Given the description of an element on the screen output the (x, y) to click on. 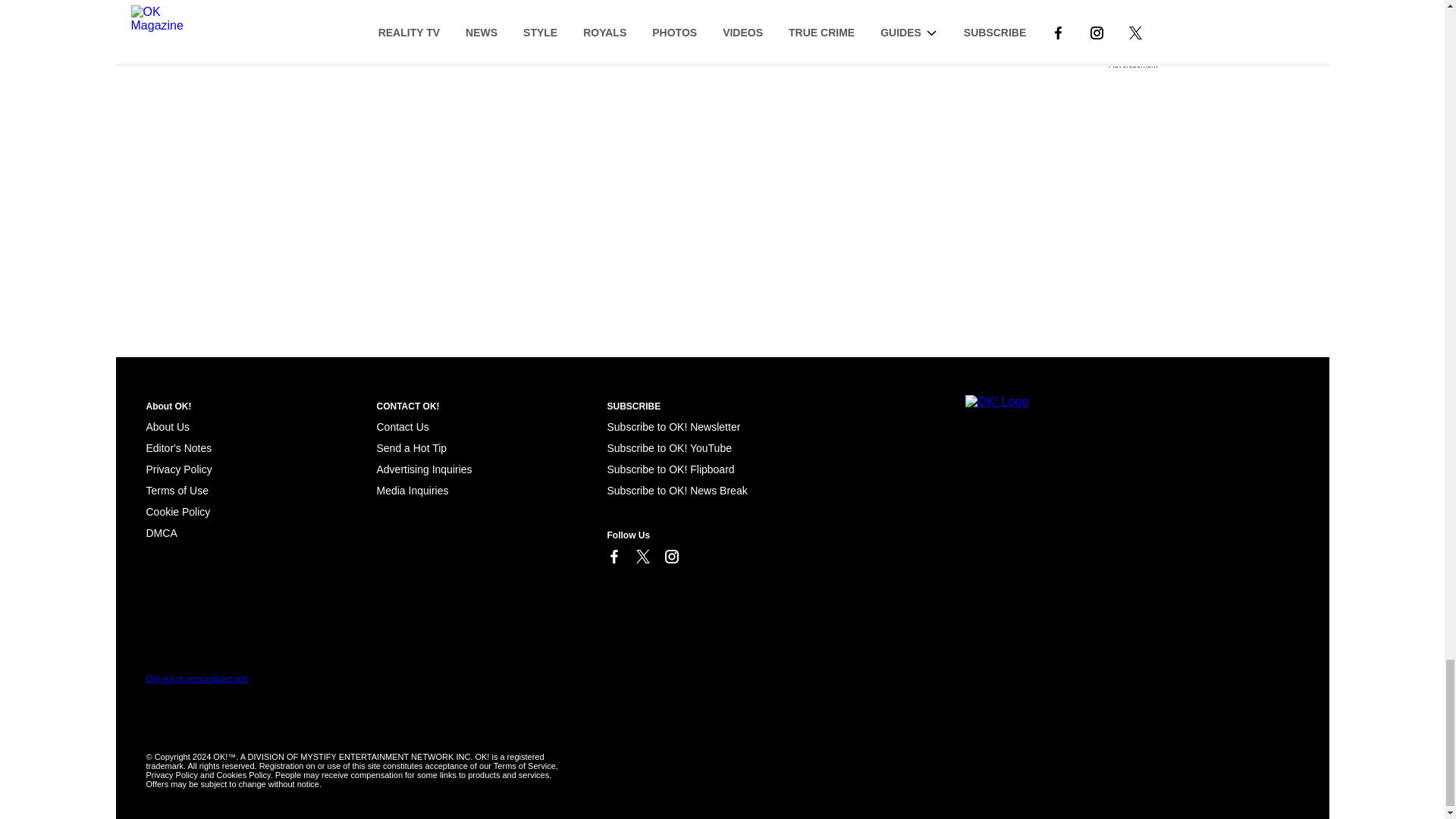
Contact Us (401, 426)
Link to Facebook (613, 556)
About Us (167, 426)
Link to Instagram (670, 556)
Send a Hot Tip (410, 448)
Cookie Policy (177, 511)
Privacy Policy (178, 469)
Terms of Use (176, 490)
Link to X (641, 556)
Editor's Notes (178, 448)
Cookie Policy (160, 532)
